Given the description of an element on the screen output the (x, y) to click on. 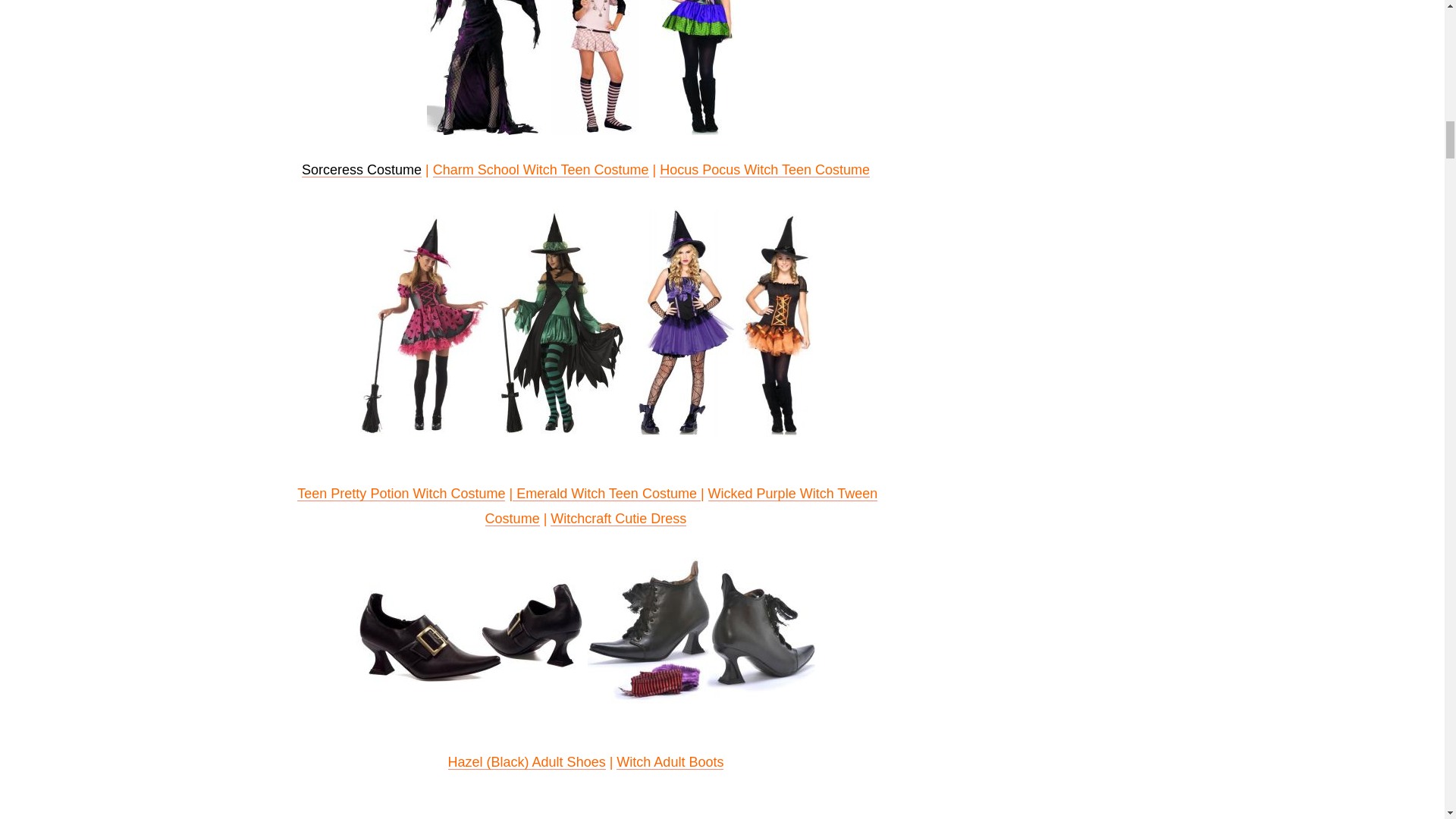
Hocus Pocus Witch Teen Costumes (696, 67)
Sorceress Teen Costumes (484, 67)
